Given the description of an element on the screen output the (x, y) to click on. 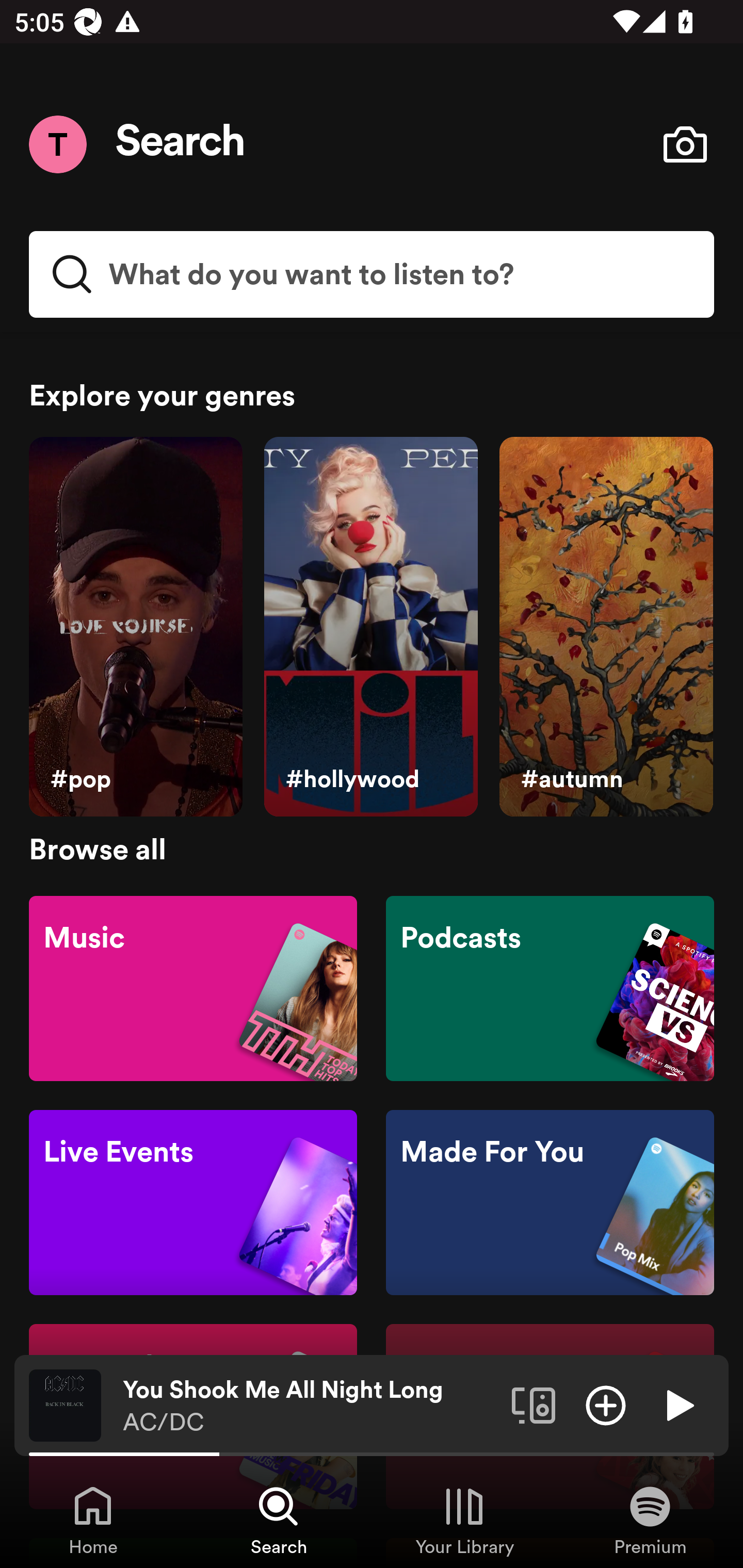
Menu (57, 144)
Open camera (685, 145)
Search (180, 144)
#pop (135, 626)
#hollywood (370, 626)
#autumn (606, 626)
Music (192, 987)
Podcasts (549, 987)
Live Events (192, 1202)
Made For You (549, 1202)
You Shook Me All Night Long AC/DC (309, 1405)
The cover art of the currently playing track (64, 1404)
Connect to a device. Opens the devices menu (533, 1404)
Add item (605, 1404)
Play (677, 1404)
Home, Tab 1 of 4 Home Home (92, 1519)
Search, Tab 2 of 4 Search Search (278, 1519)
Your Library, Tab 3 of 4 Your Library Your Library (464, 1519)
Premium, Tab 4 of 4 Premium Premium (650, 1519)
